Given the description of an element on the screen output the (x, y) to click on. 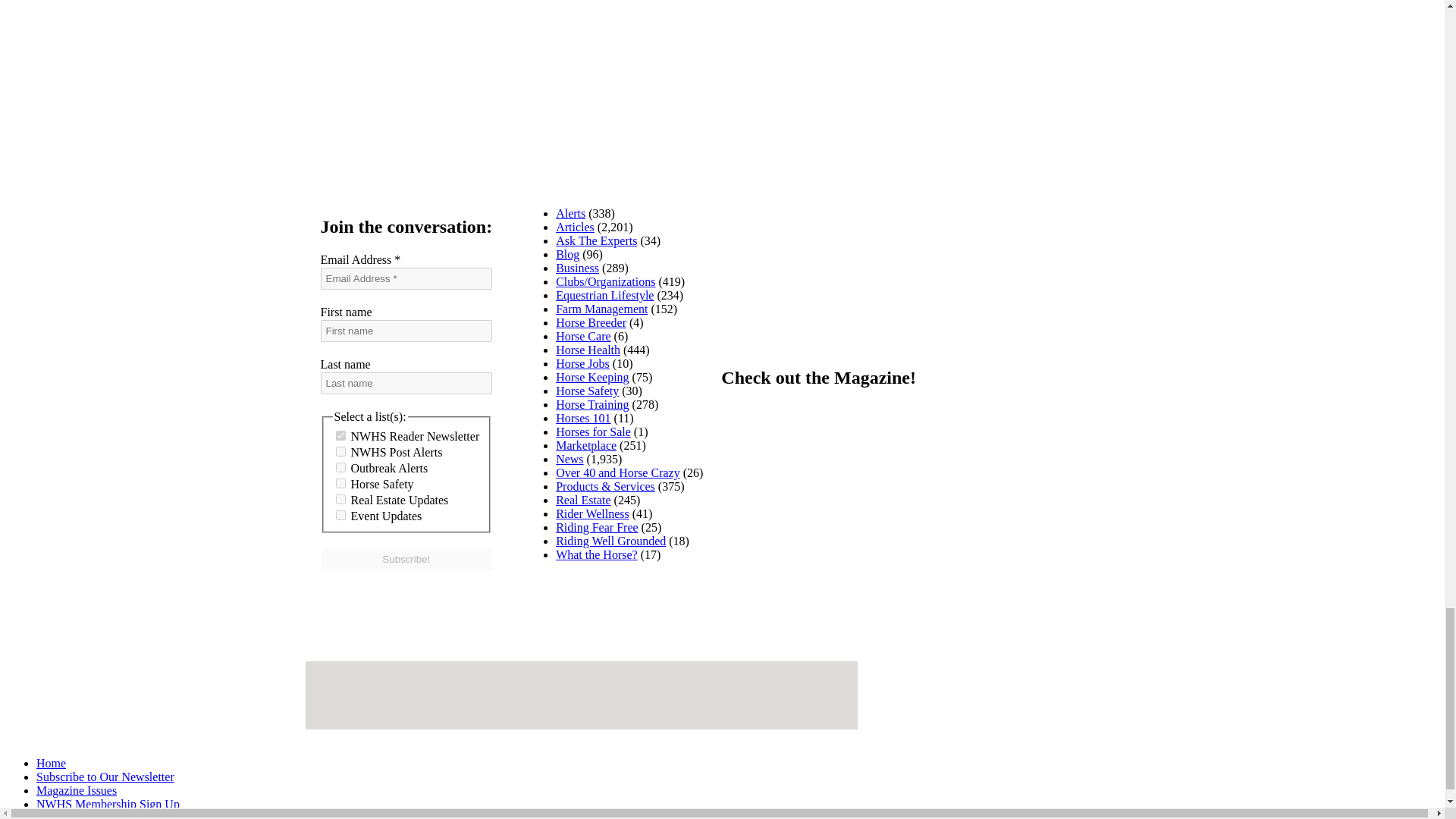
5 (339, 467)
Subscribe! (406, 558)
11 (339, 499)
Email Address (406, 278)
First name (406, 331)
10 (339, 483)
Last name (406, 382)
9 (339, 435)
19 (339, 515)
4 (339, 451)
